Given the description of an element on the screen output the (x, y) to click on. 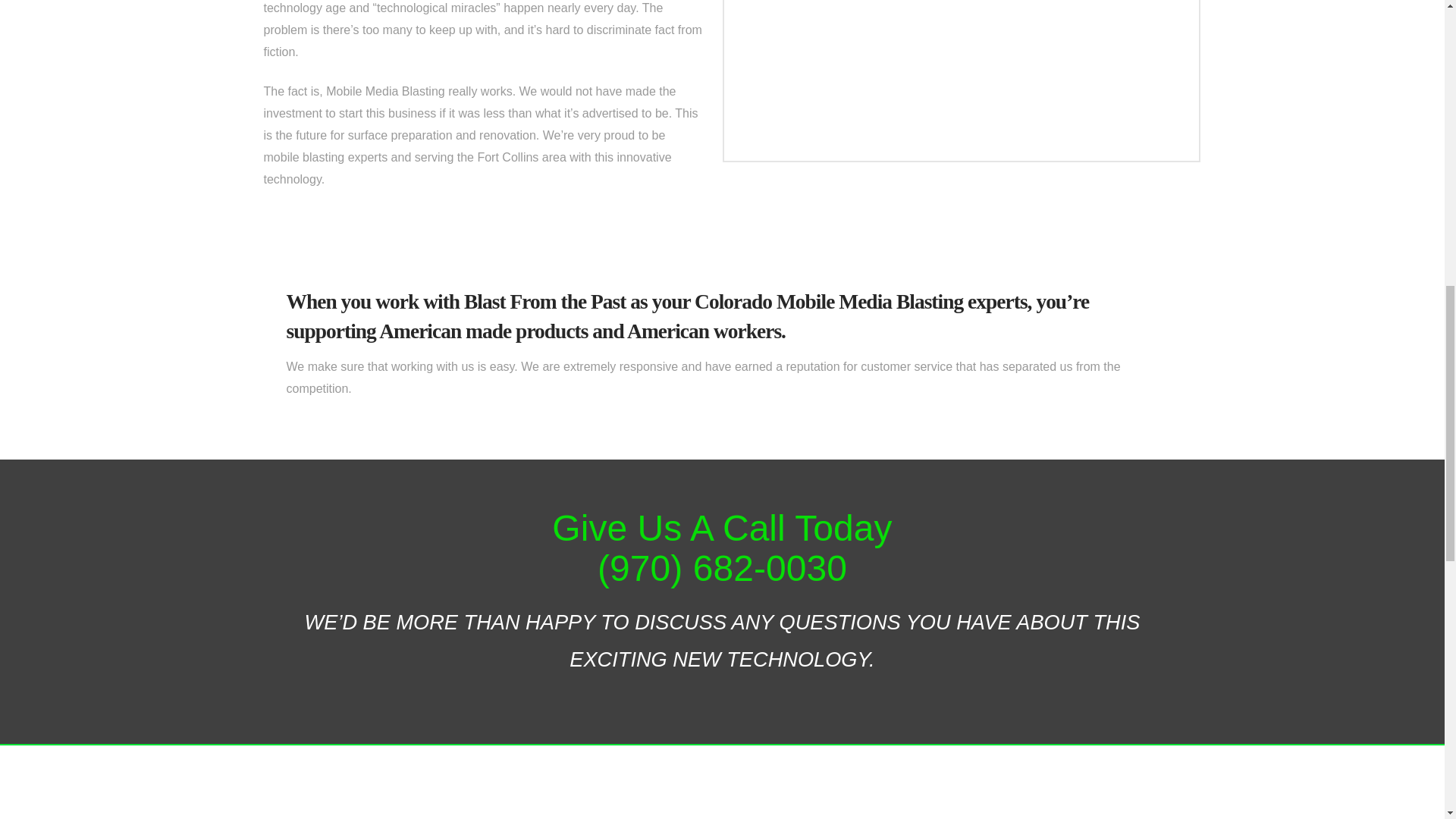
YouTube video player (960, 74)
